Given the description of an element on the screen output the (x, y) to click on. 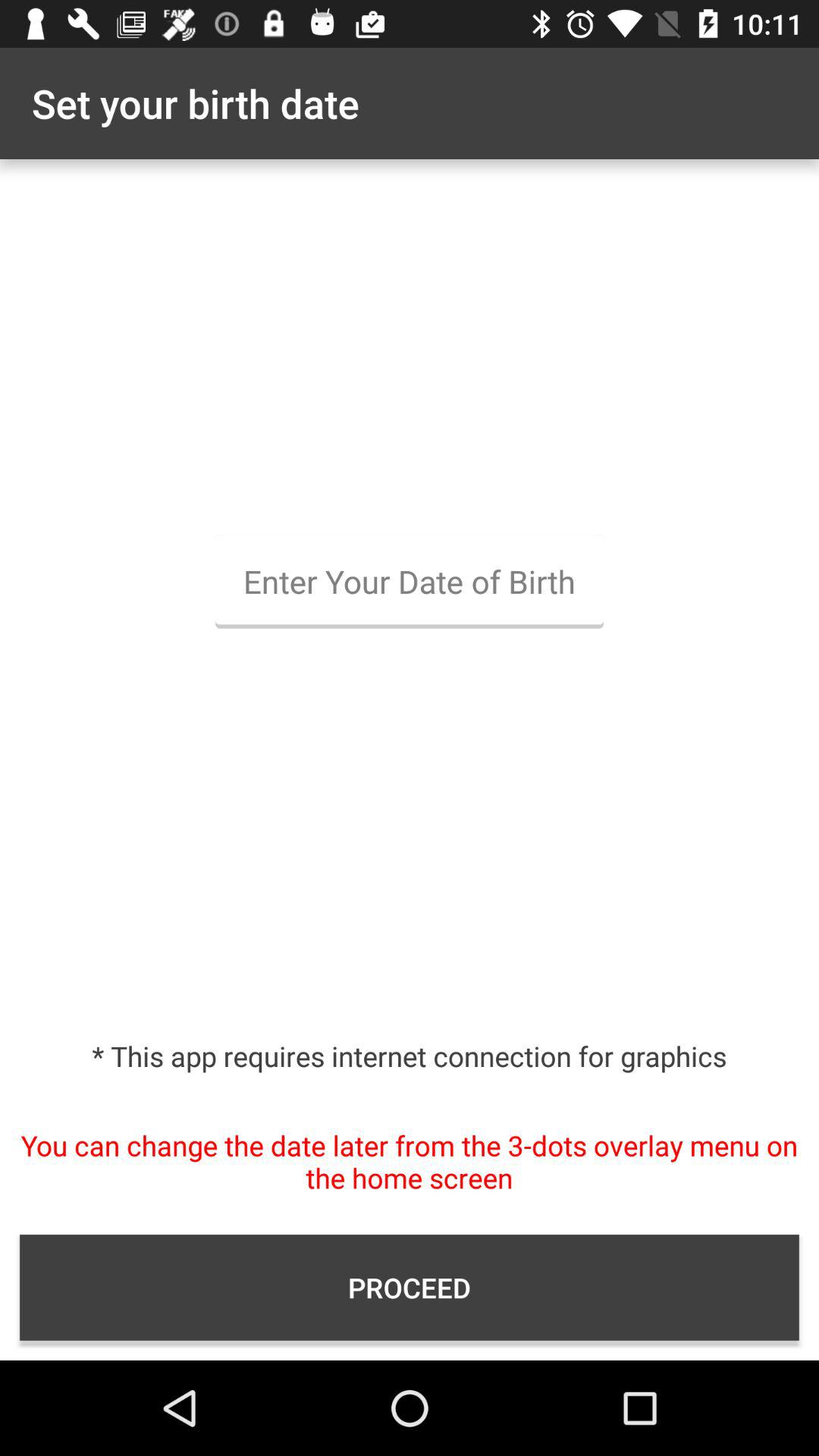
turn on the item below the you can change icon (409, 1287)
